Given the description of an element on the screen output the (x, y) to click on. 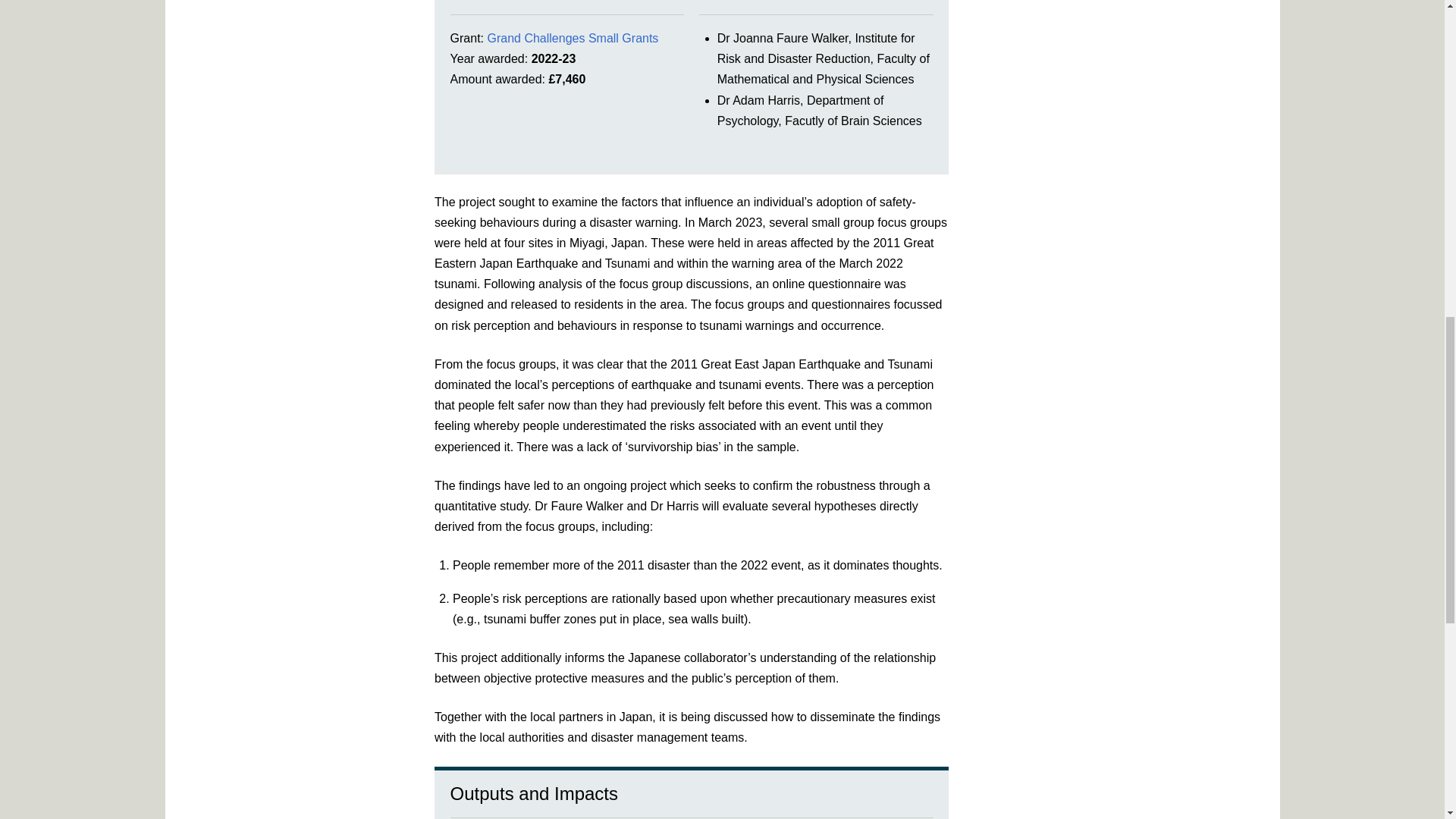
Grand Challenges Small Grants (572, 38)
